Given the description of an element on the screen output the (x, y) to click on. 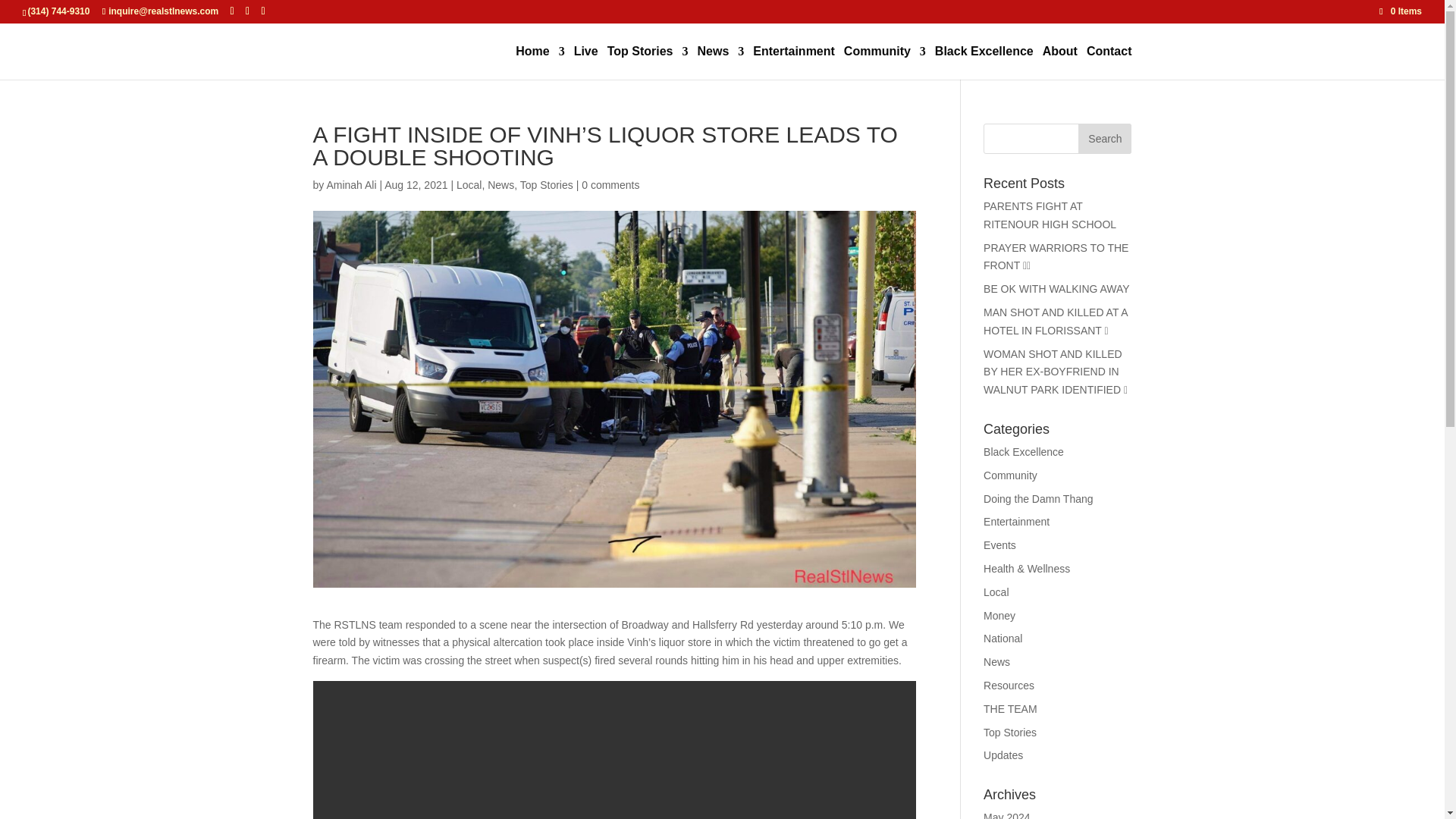
Community (885, 62)
Entertainment (793, 62)
Posts by Aminah Ali (350, 184)
About (1059, 62)
Contact (1109, 62)
Search (1104, 138)
Top Stories (647, 62)
Black Excellence (983, 62)
Home (539, 62)
0 Items (1400, 10)
News (720, 62)
